Given the description of an element on the screen output the (x, y) to click on. 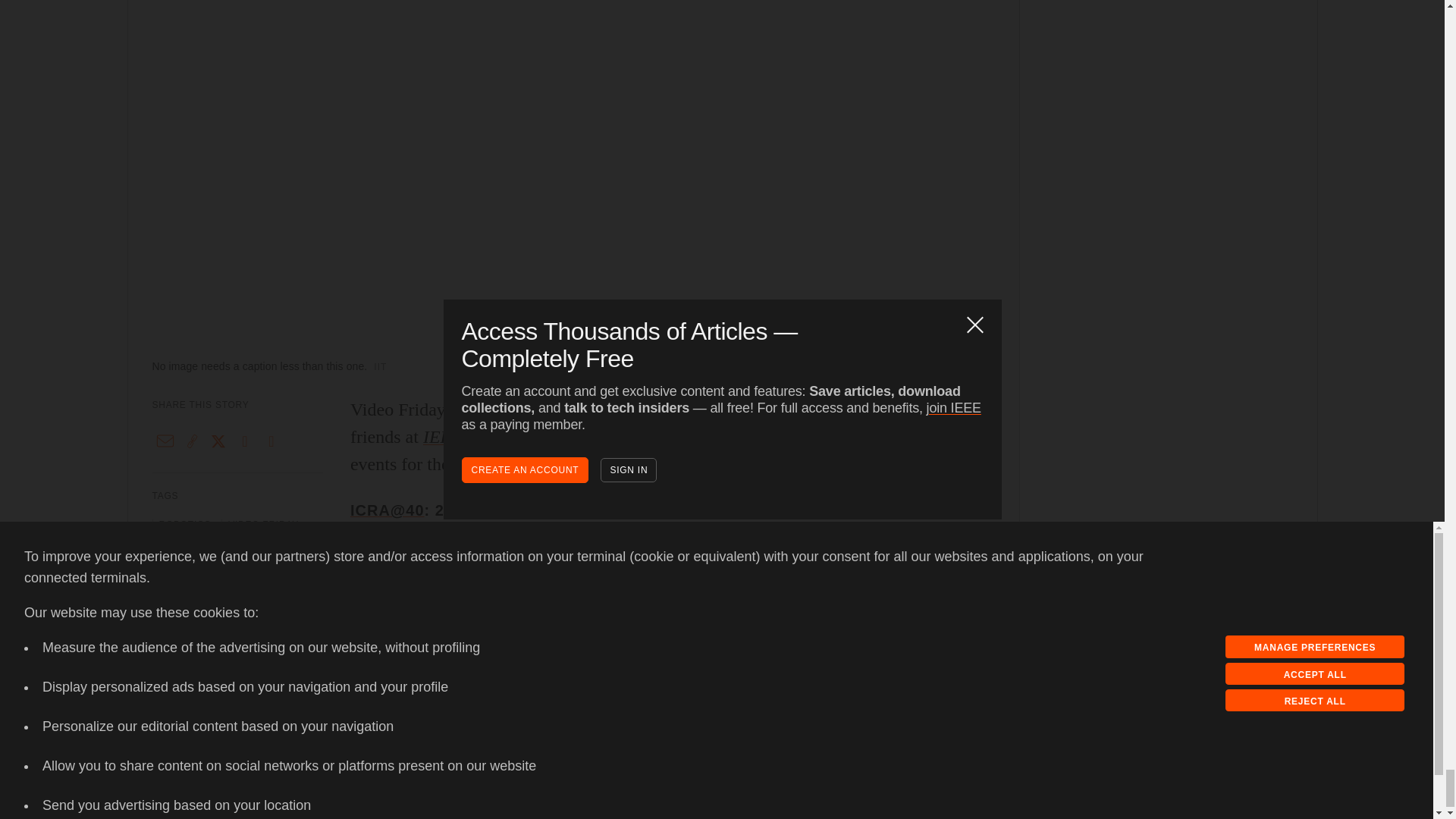
Copy this link to clipboard (192, 440)
